Given the description of an element on the screen output the (x, y) to click on. 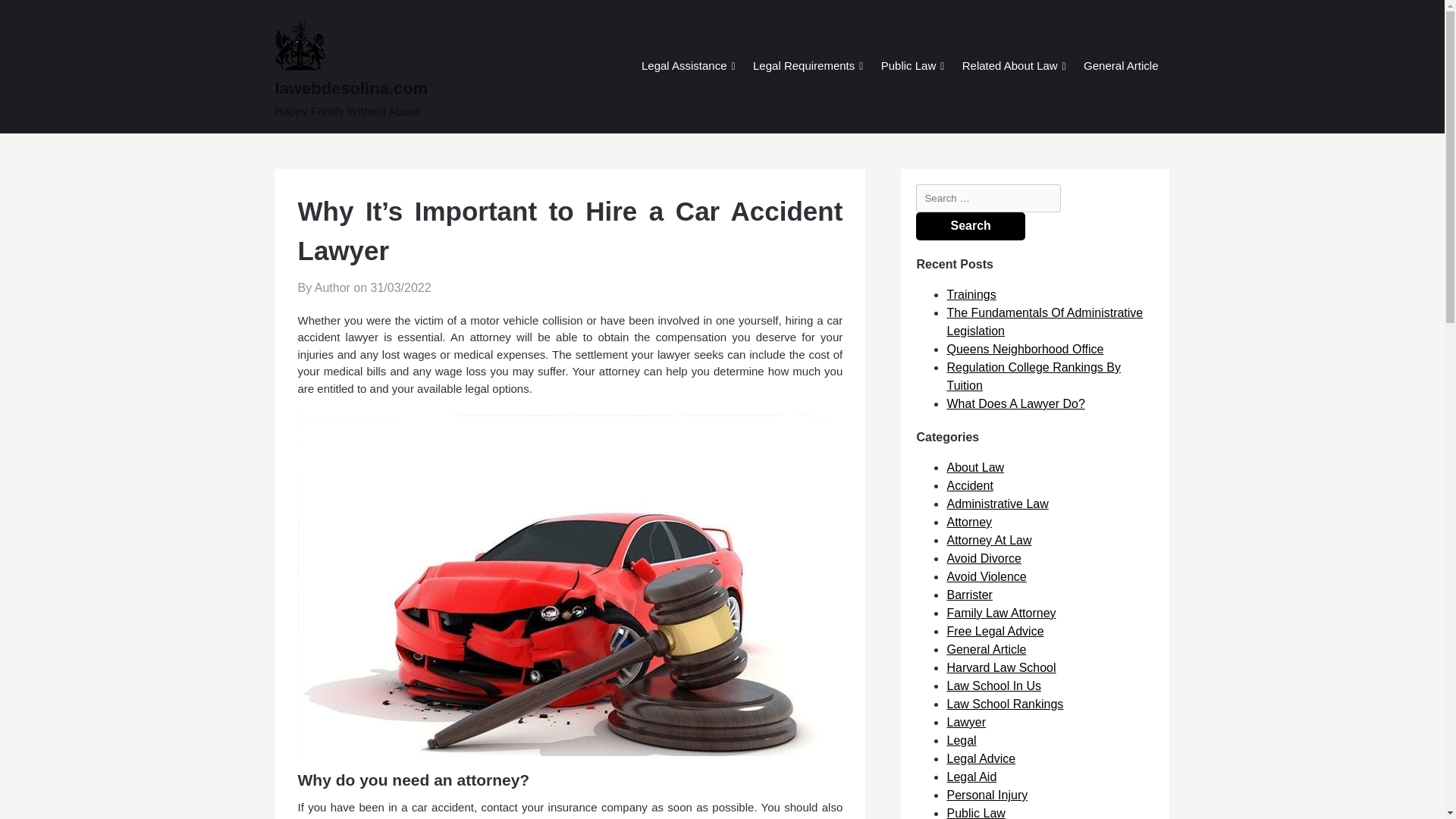
lawebdesolina.com (409, 88)
Search (970, 226)
Search (970, 226)
Related About Law (1009, 66)
Legal Assistance (684, 66)
Legal Requirements (803, 66)
Public Law (908, 66)
General Article (1120, 66)
